Given the description of an element on the screen output the (x, y) to click on. 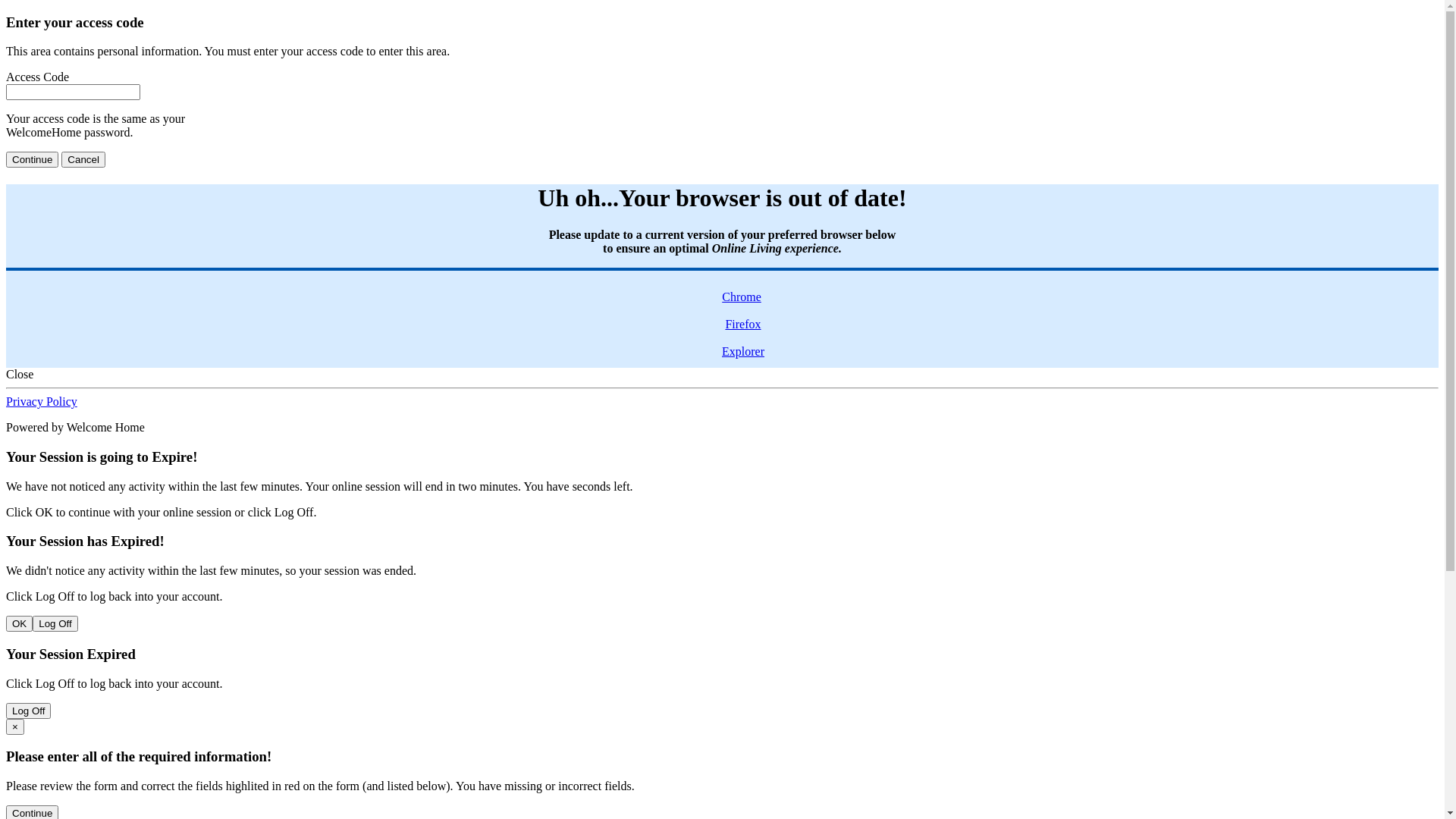
Chrome Element type: text (741, 303)
OK Element type: text (19, 623)
Log Off Element type: text (54, 623)
Cancel Element type: text (83, 159)
Log Off Element type: text (28, 710)
Firefox Element type: text (740, 330)
Close Element type: text (19, 373)
Continue Element type: text (32, 159)
Explorer Element type: text (741, 358)
Privacy Policy Element type: text (41, 401)
